Given the description of an element on the screen output the (x, y) to click on. 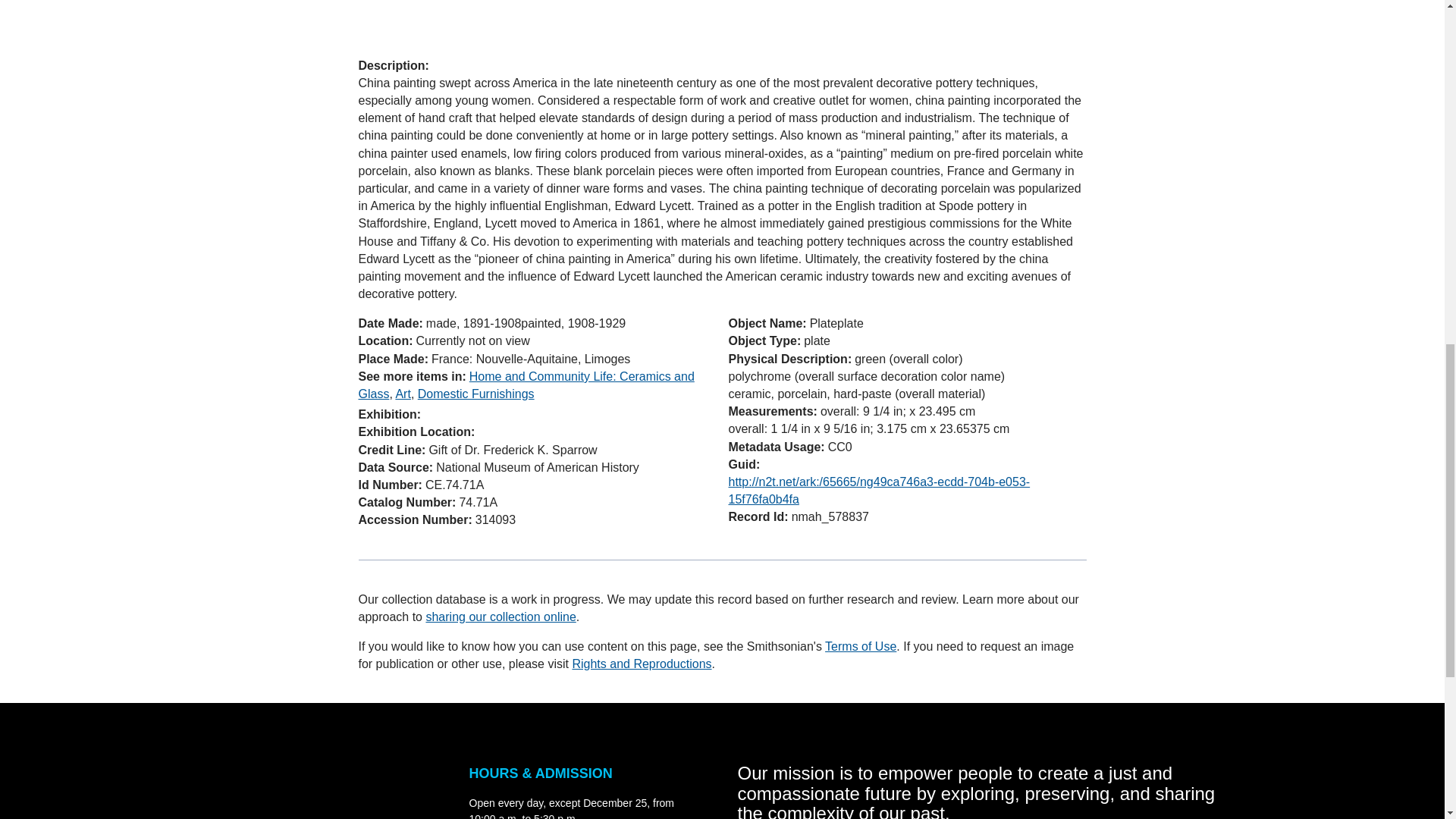
Rights and Reproductions (641, 663)
sharing our collection online (500, 616)
Terms of Use (860, 645)
National Museum of American History (319, 791)
Art (402, 393)
Home and Community Life: Ceramics and Glass (526, 385)
Domestic Furnishings (475, 393)
